Given the description of an element on the screen output the (x, y) to click on. 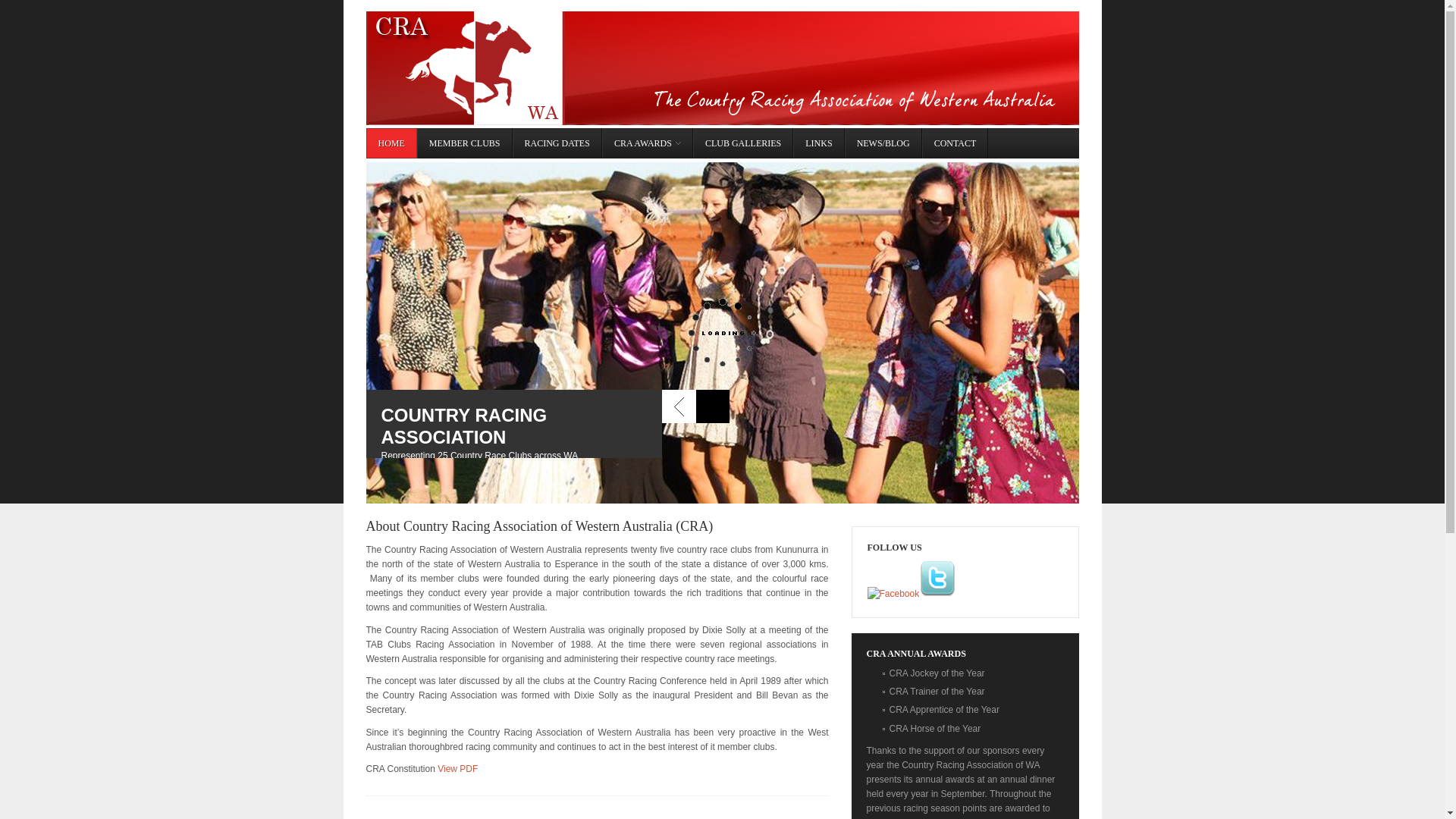
Facebook Element type: hover (893, 593)
RACING DATES Element type: text (557, 143)
NEWS/BLOG Element type: text (883, 143)
MEMBER CLUBS Element type: text (464, 143)
HOME Element type: text (390, 143)
View PDF Element type: text (457, 768)
CONTACT Element type: text (955, 143)
LINKS Element type: text (818, 143)
CLUB GALLERIES Element type: text (743, 143)
Twitter Element type: hover (937, 578)
CRA AWARDS Element type: text (647, 143)
Country Racing Association Element type: hover (721, 68)
About Country Racing Association of Western Australia (CRA) Element type: text (538, 525)
